Given the description of an element on the screen output the (x, y) to click on. 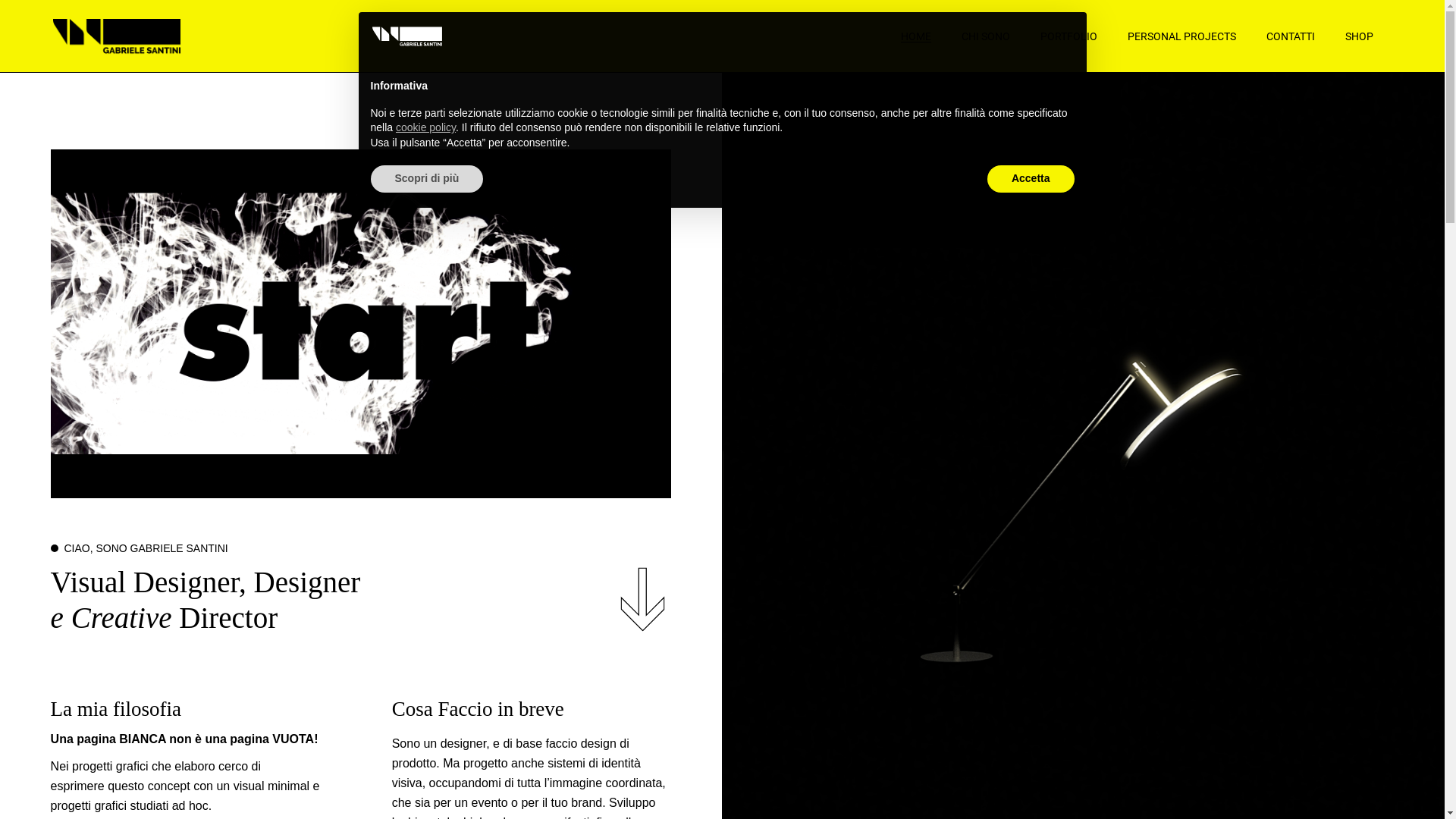
CONTATTI Element type: text (1290, 36)
HOME Element type: text (915, 36)
PERSONAL PROJECTS Element type: text (1181, 36)
cookie policy Element type: text (425, 127)
CHI SONO Element type: text (985, 36)
SHOP Element type: text (1359, 36)
Accetta Element type: text (1030, 178)
PORTFOLIO Element type: text (1068, 36)
